Given the description of an element on the screen output the (x, y) to click on. 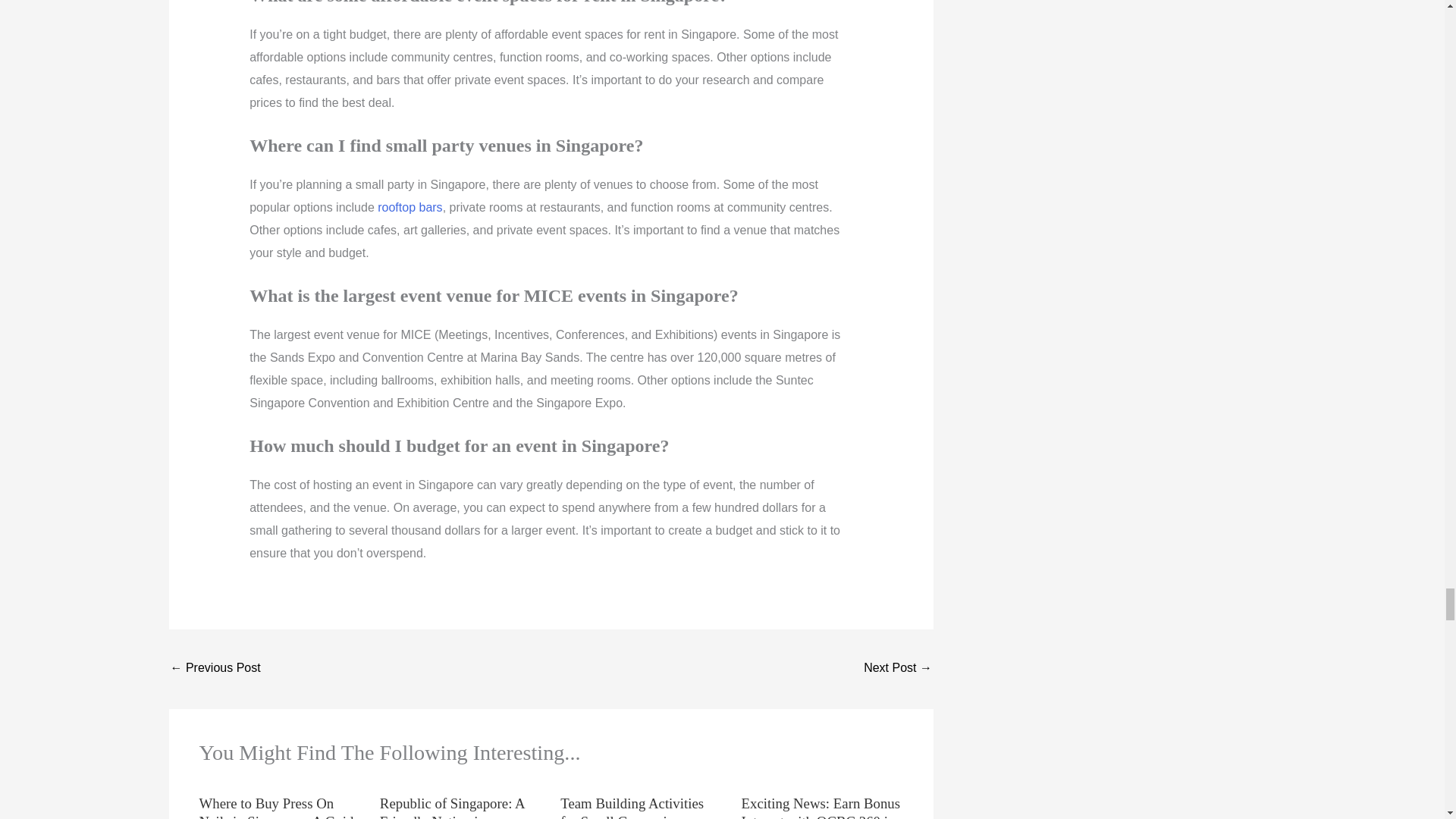
rooftop bars (409, 206)
